Given the description of an element on the screen output the (x, y) to click on. 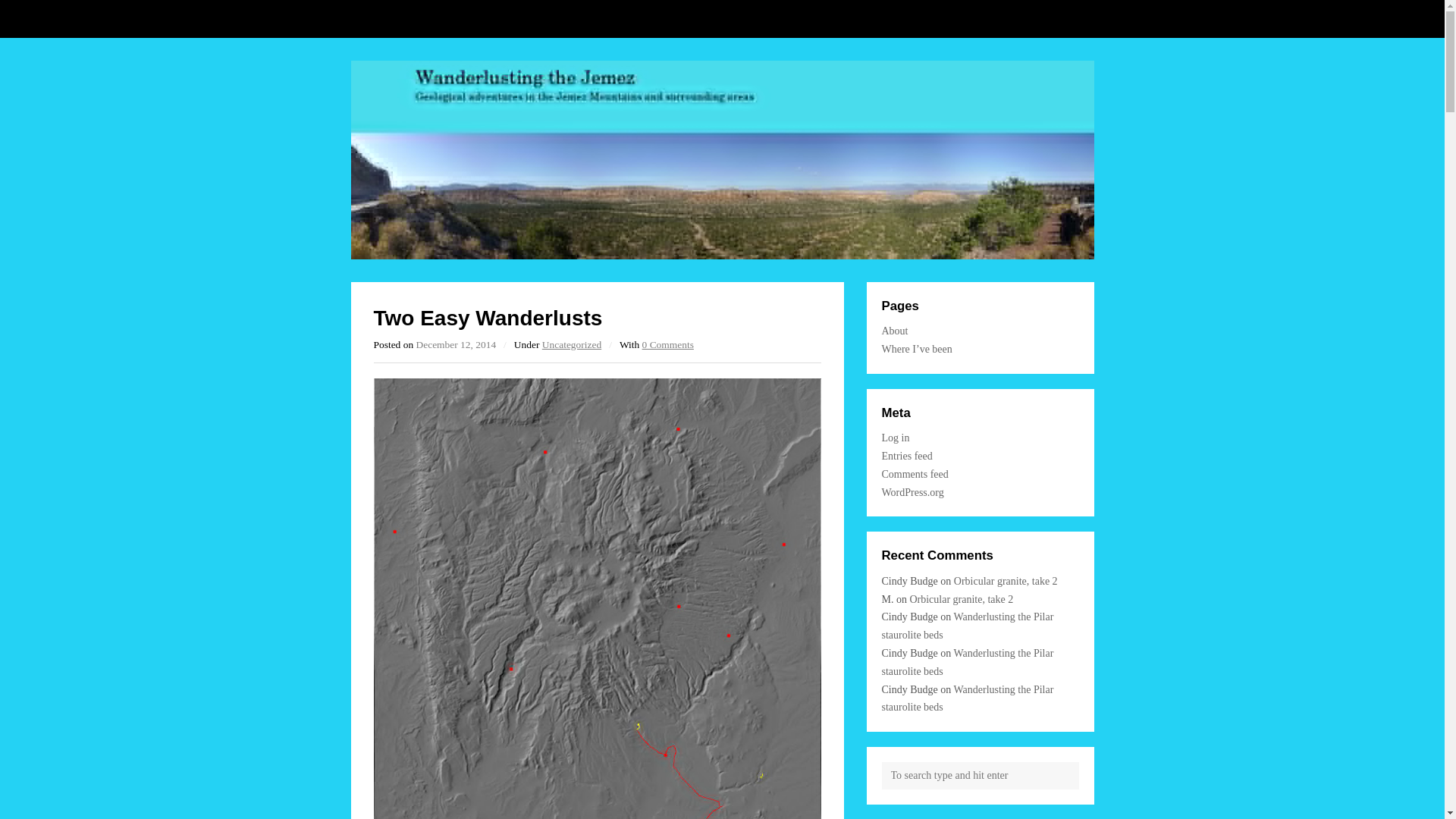
0 Comments (668, 344)
Uncategorized (571, 344)
